Given the description of an element on the screen output the (x, y) to click on. 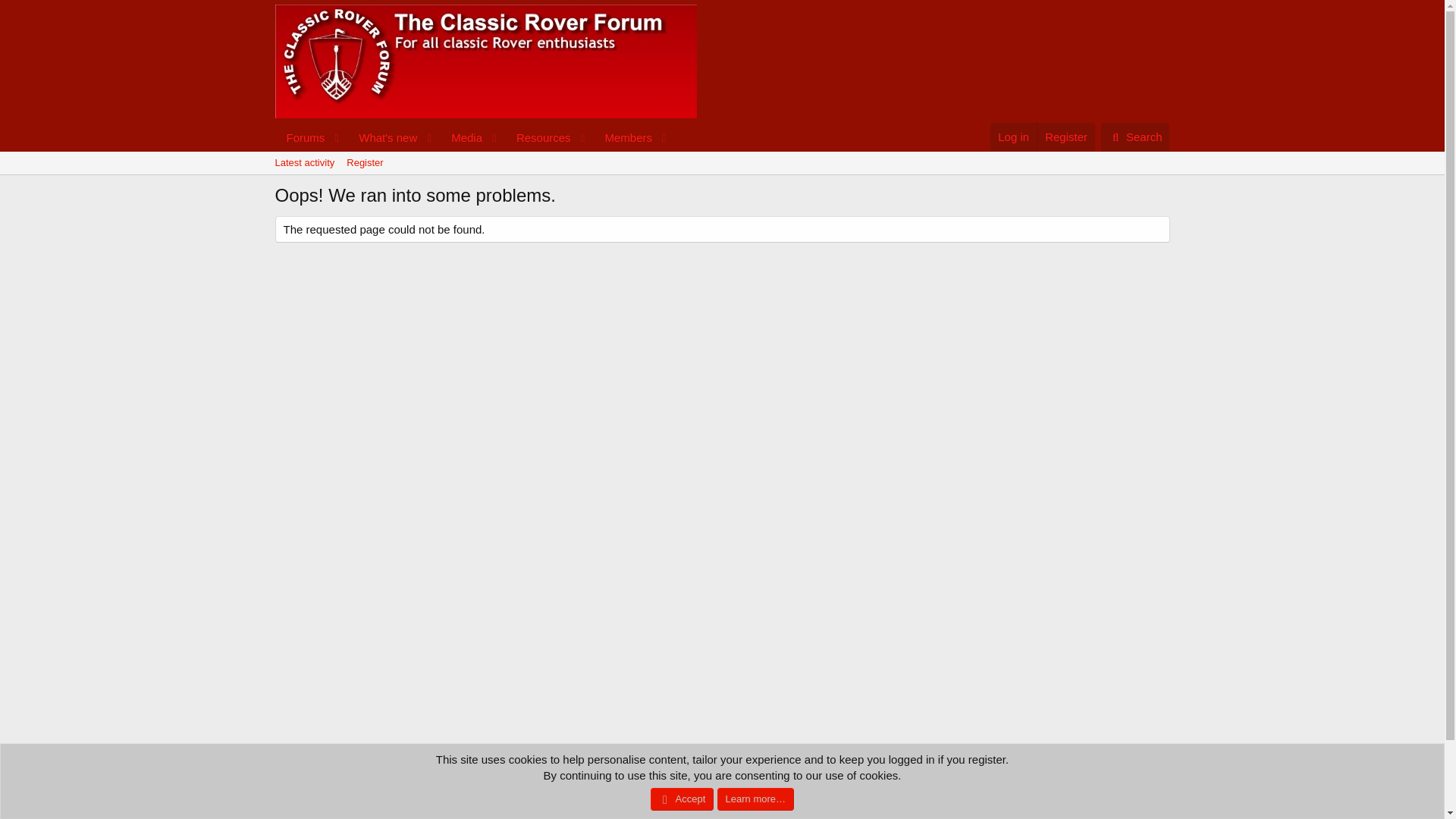
Log in (1013, 136)
Search (1135, 136)
What's new (473, 137)
Search (383, 137)
Members (1135, 136)
RSS (473, 137)
Register (622, 137)
Forums (1161, 776)
Latest activity (1065, 136)
Media (300, 137)
Register (303, 162)
Resources (461, 137)
